Given the description of an element on the screen output the (x, y) to click on. 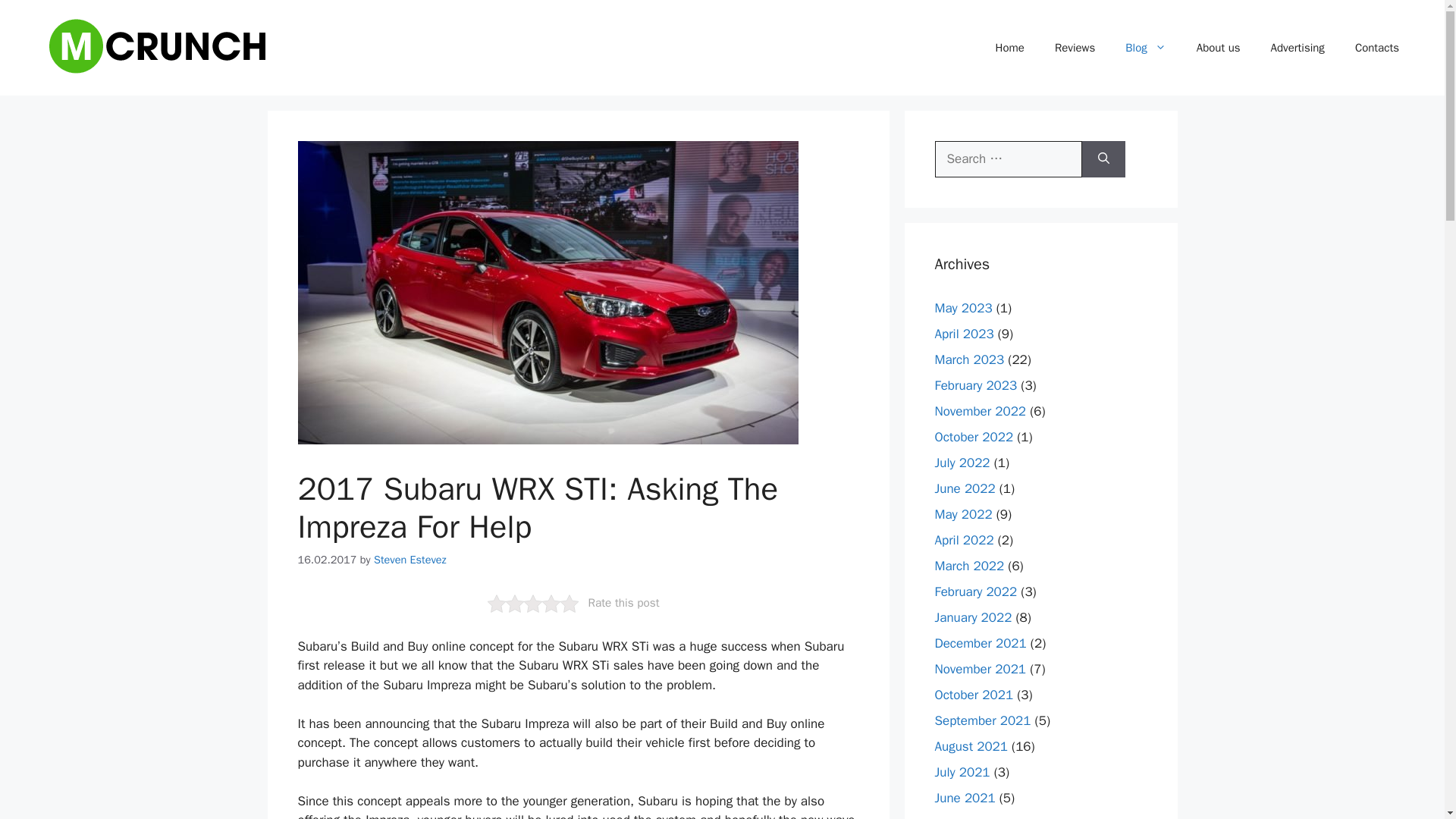
Advertising (1297, 47)
About us (1217, 47)
Contacts (1376, 47)
Reviews (1074, 47)
Search for: (1007, 158)
May 2023 (962, 308)
Home (1009, 47)
Blog (1144, 47)
Steven Estevez (410, 559)
View all posts by Steven Estevez (410, 559)
